Given the description of an element on the screen output the (x, y) to click on. 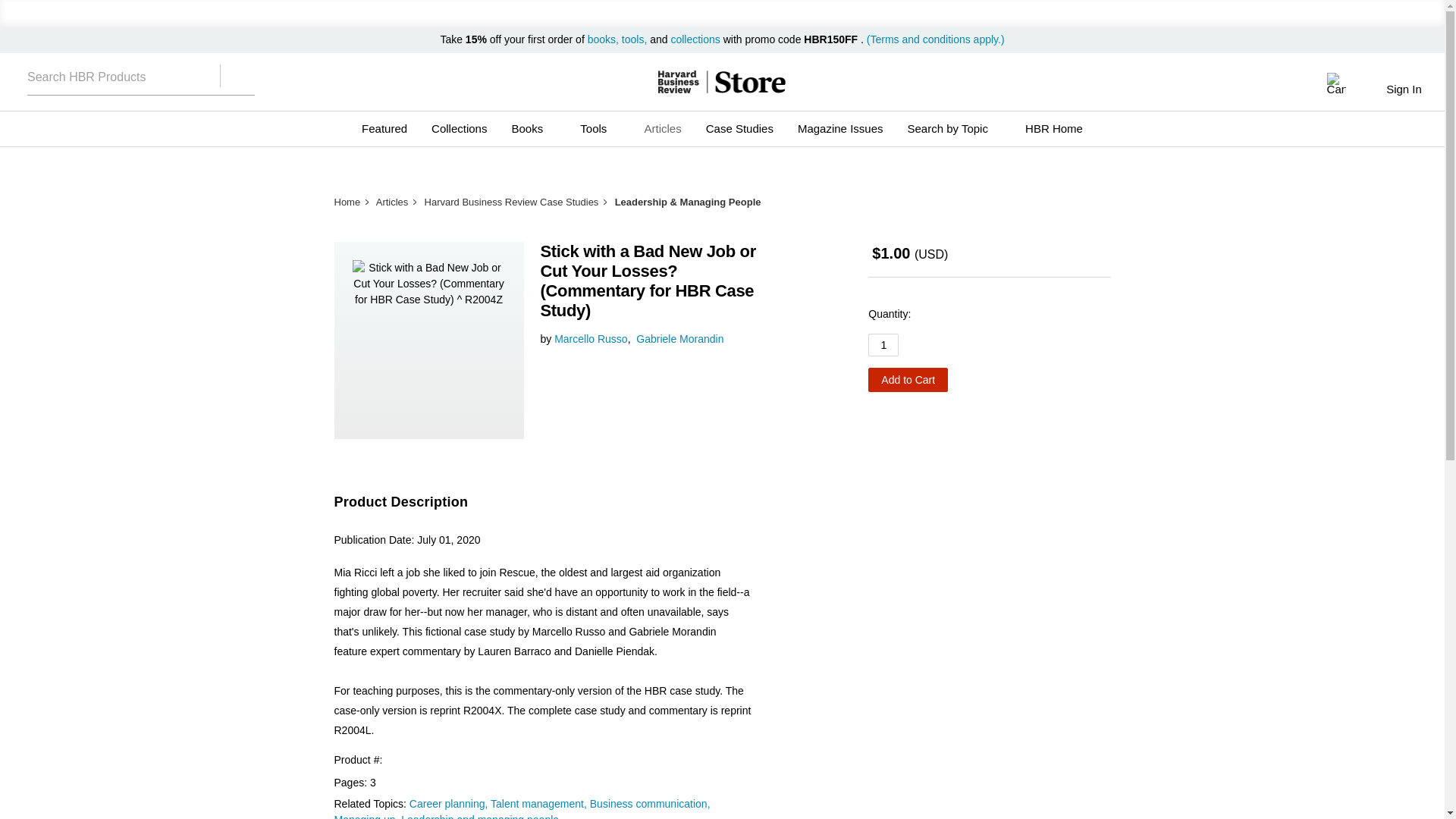
Tools (599, 128)
1 (882, 344)
tools, (633, 39)
Featured (384, 128)
Sign In (1403, 88)
collections (694, 39)
Collections (459, 128)
Add to Cart (907, 379)
Books (533, 128)
books, (604, 39)
HBR.ORG - Prod (678, 81)
